Given the description of an element on the screen output the (x, y) to click on. 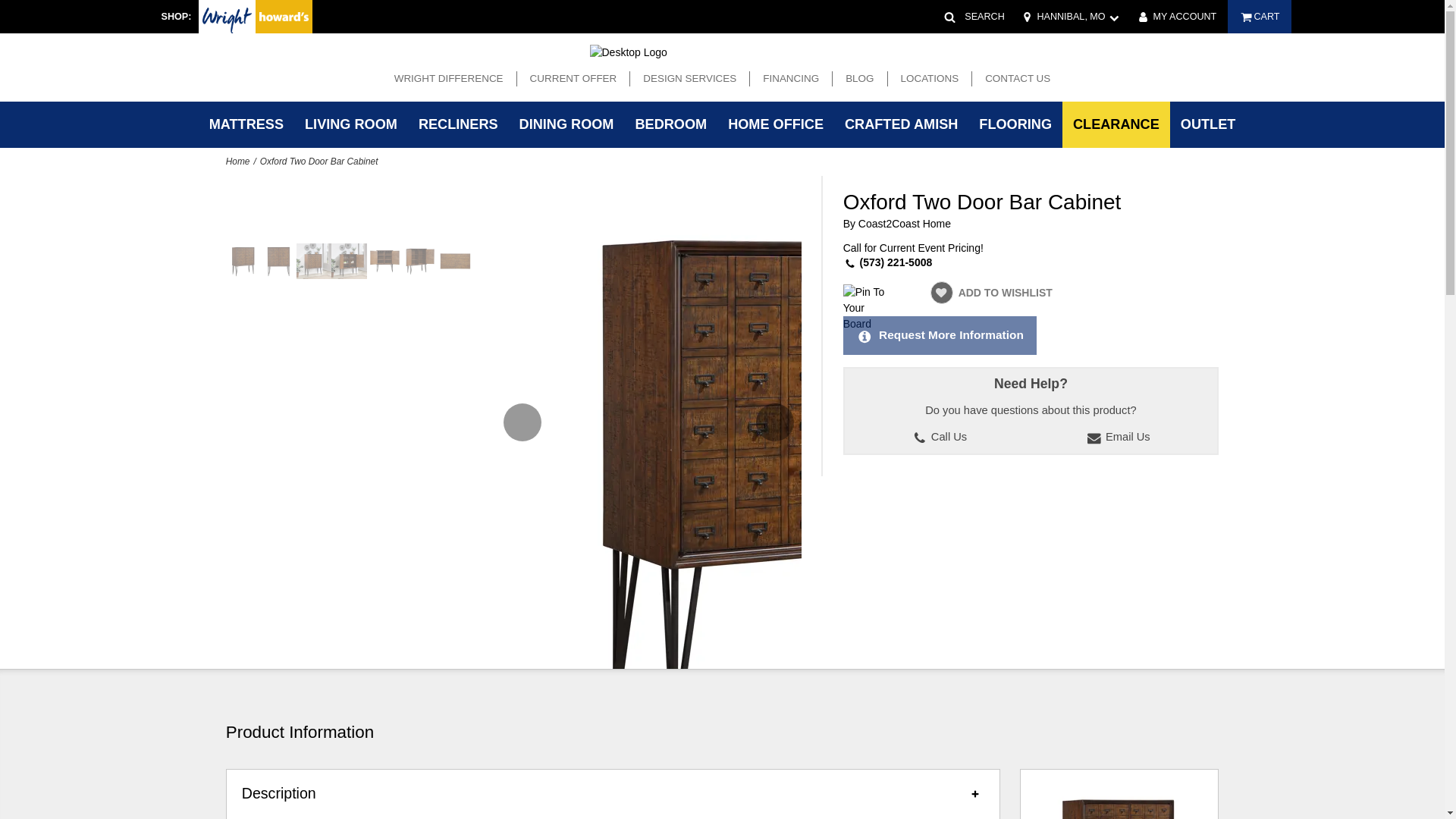
HOWARD'S (284, 16)
CART (1258, 16)
MATTRESS (246, 124)
BLOG (859, 78)
My Account (1176, 16)
WRIGHT (227, 16)
View Cart (1258, 16)
DESIGN SERVICES (689, 78)
WRIGHT DIFFERENCE (448, 78)
Pin This (865, 306)
